Given the description of an element on the screen output the (x, y) to click on. 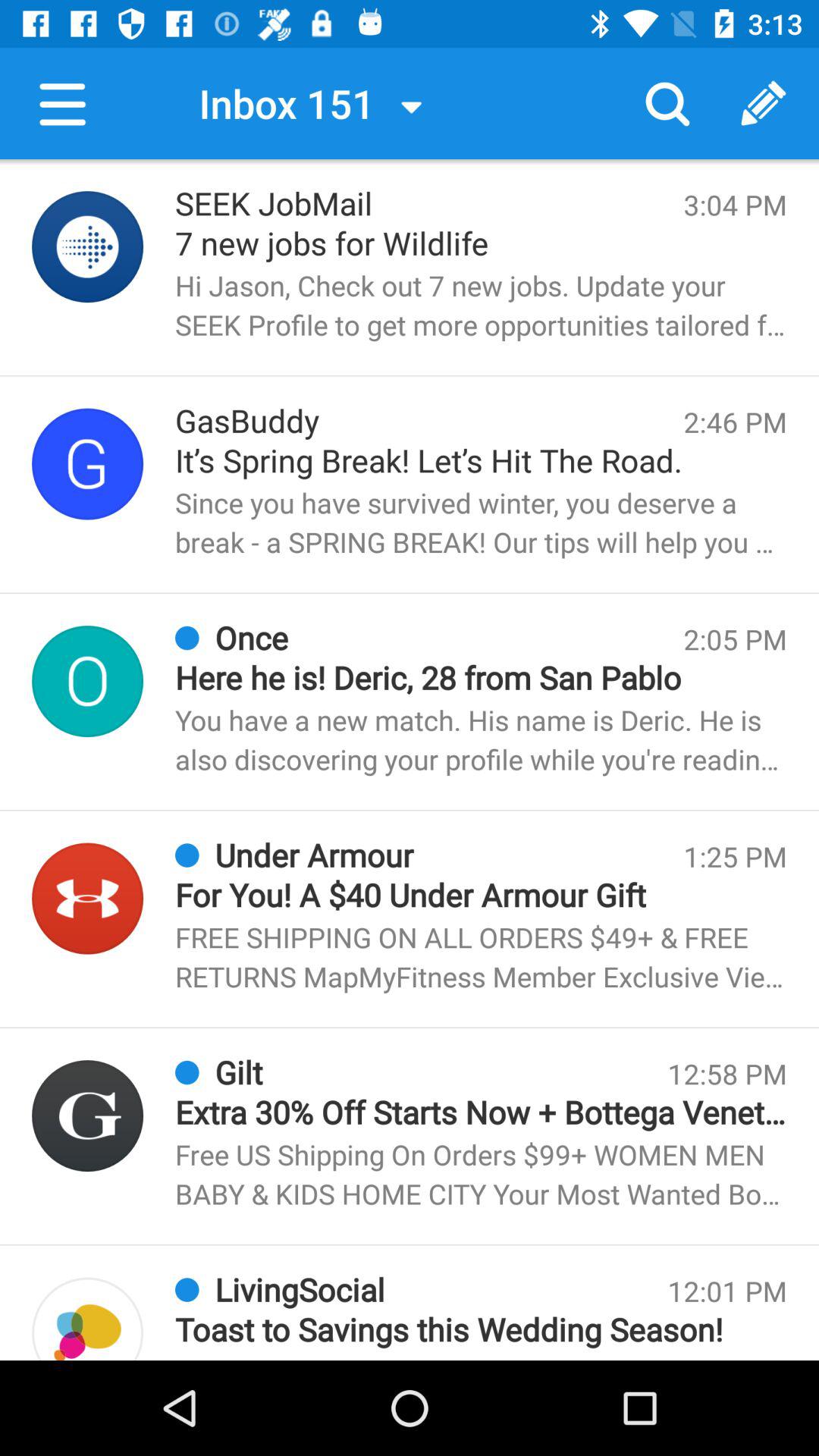
link to gilt (87, 1115)
